Given the description of an element on the screen output the (x, y) to click on. 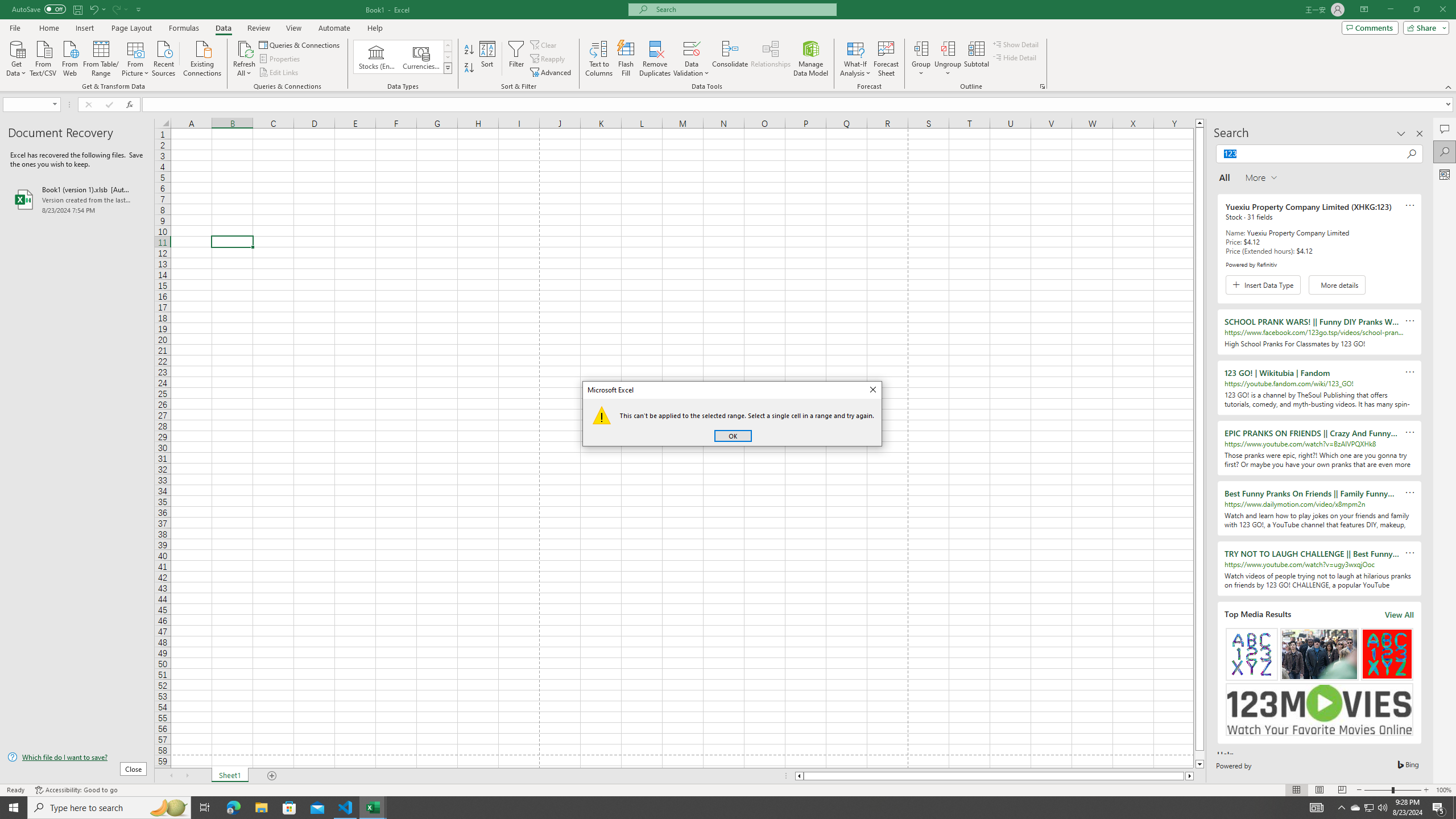
Search highlights icon opens search home window (167, 807)
Sort... (487, 58)
Get Data (16, 57)
AutomationID: ConvertToLinkedEntity (403, 56)
Class: MsoCommandBar (728, 45)
Analyze Data (1444, 173)
Existing Connections (202, 57)
Currencies (English) (420, 56)
Task View (204, 807)
